Given the description of an element on the screen output the (x, y) to click on. 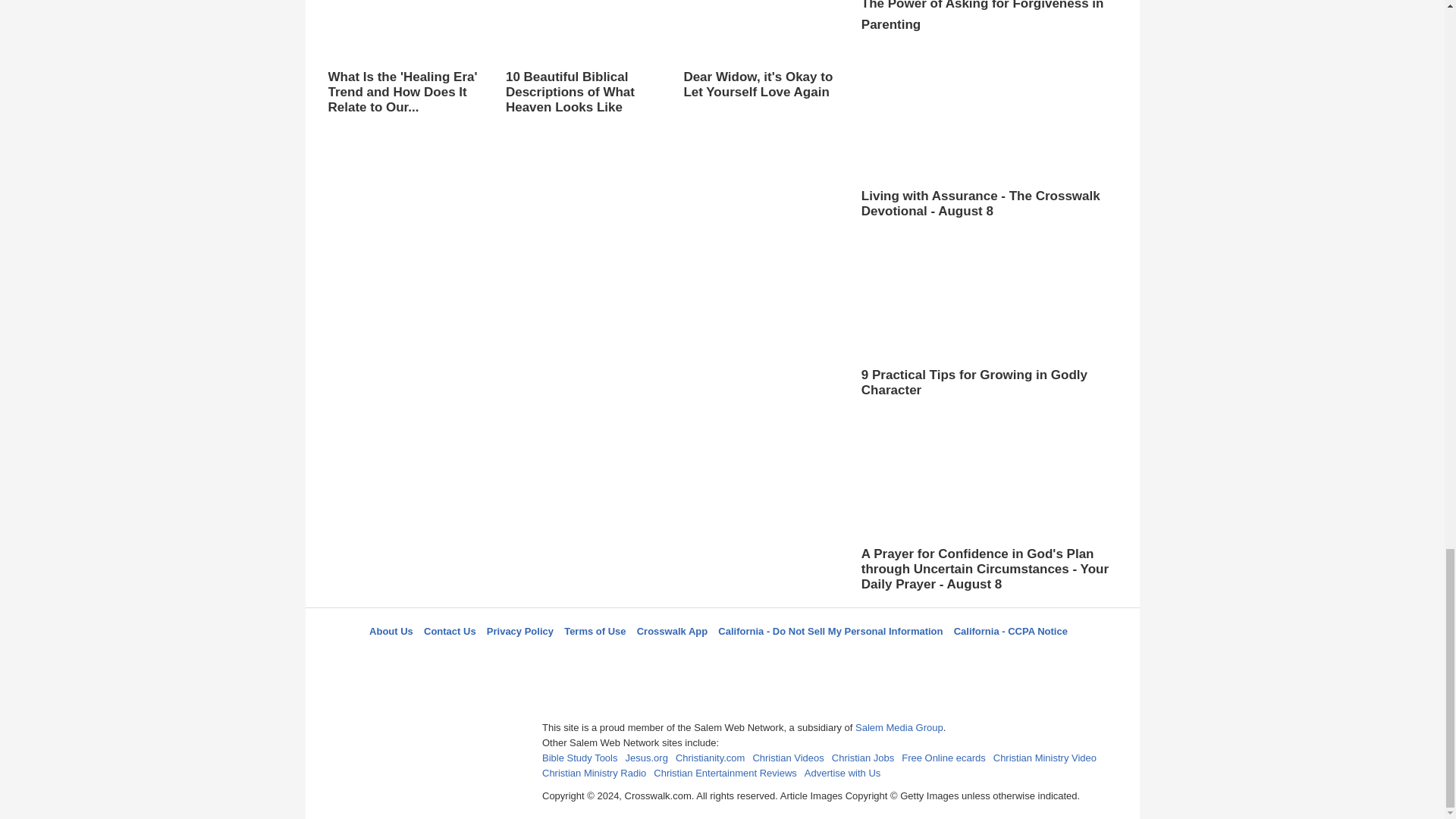
Dear Widow, it's Okay to Let Yourself Love Again (760, 64)
10 Beautiful Biblical Descriptions of What Heaven Looks Like (583, 57)
Facebook (645, 658)
LifeAudio (719, 658)
Pinterest (757, 658)
Twitter (683, 658)
YouTube (795, 658)
